Given the description of an element on the screen output the (x, y) to click on. 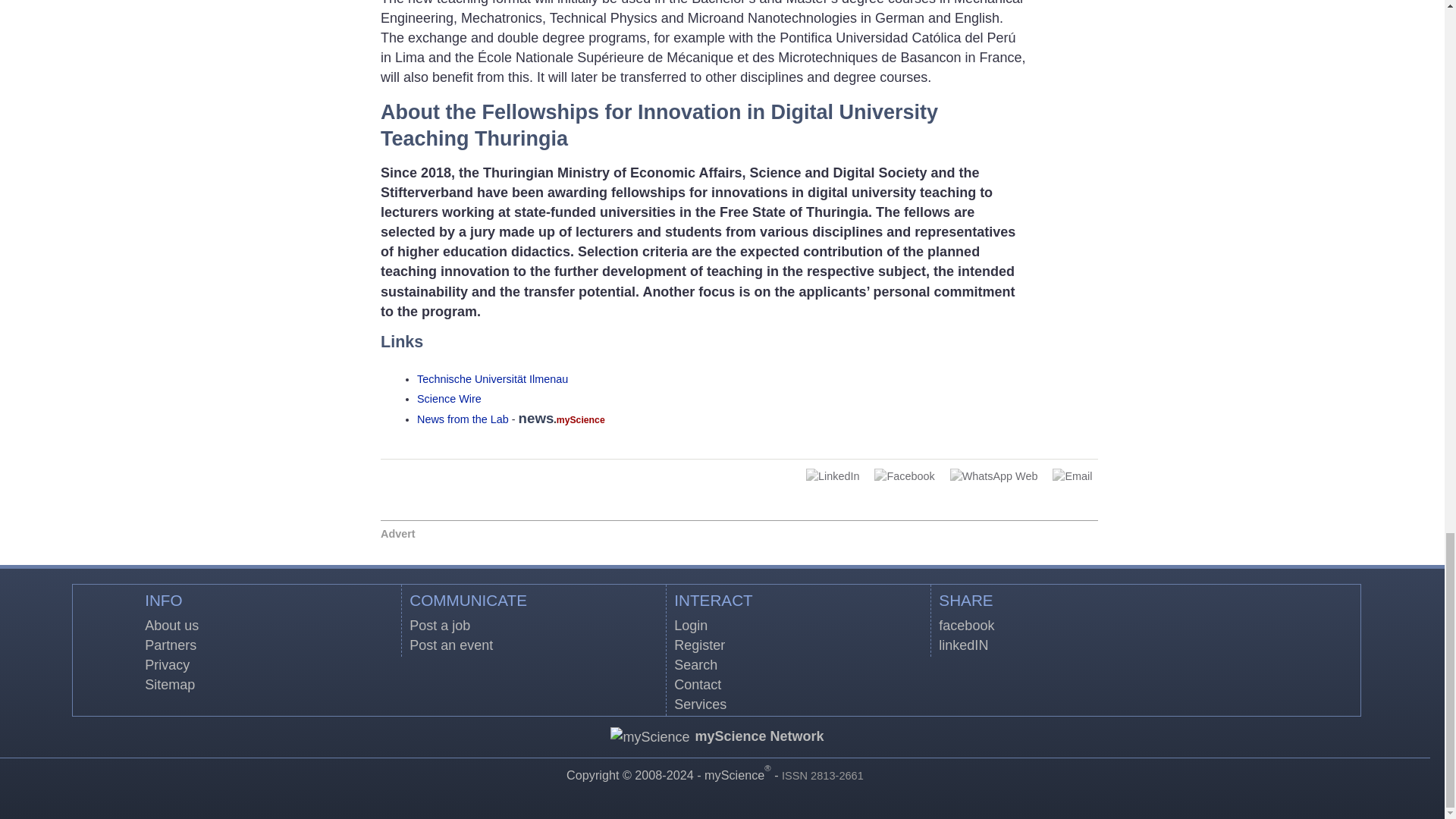
Share on LinkedIn (832, 476)
News (462, 419)
All news and press releases (448, 398)
